Given the description of an element on the screen output the (x, y) to click on. 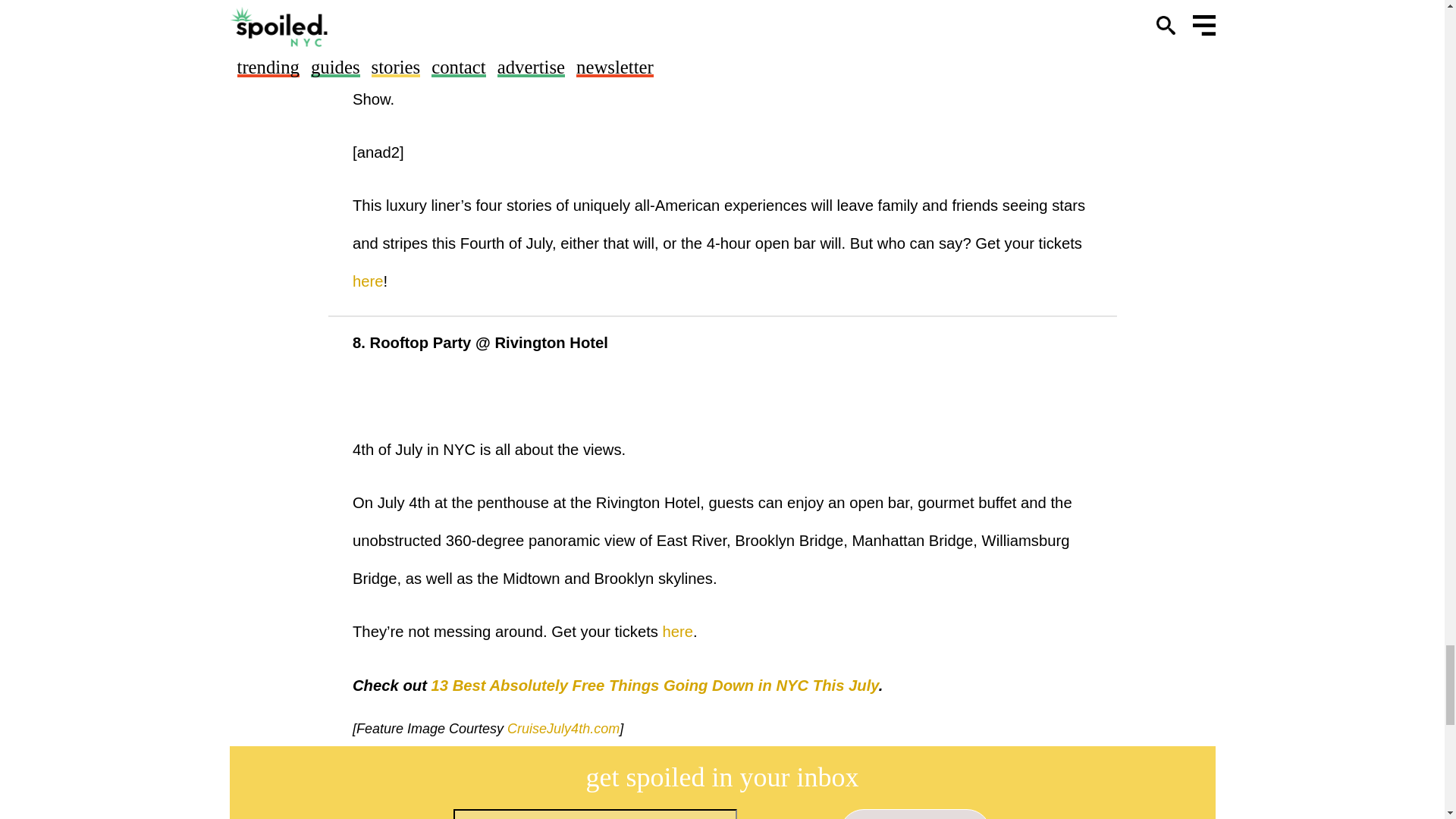
here (368, 280)
here (678, 631)
